Given the description of an element on the screen output the (x, y) to click on. 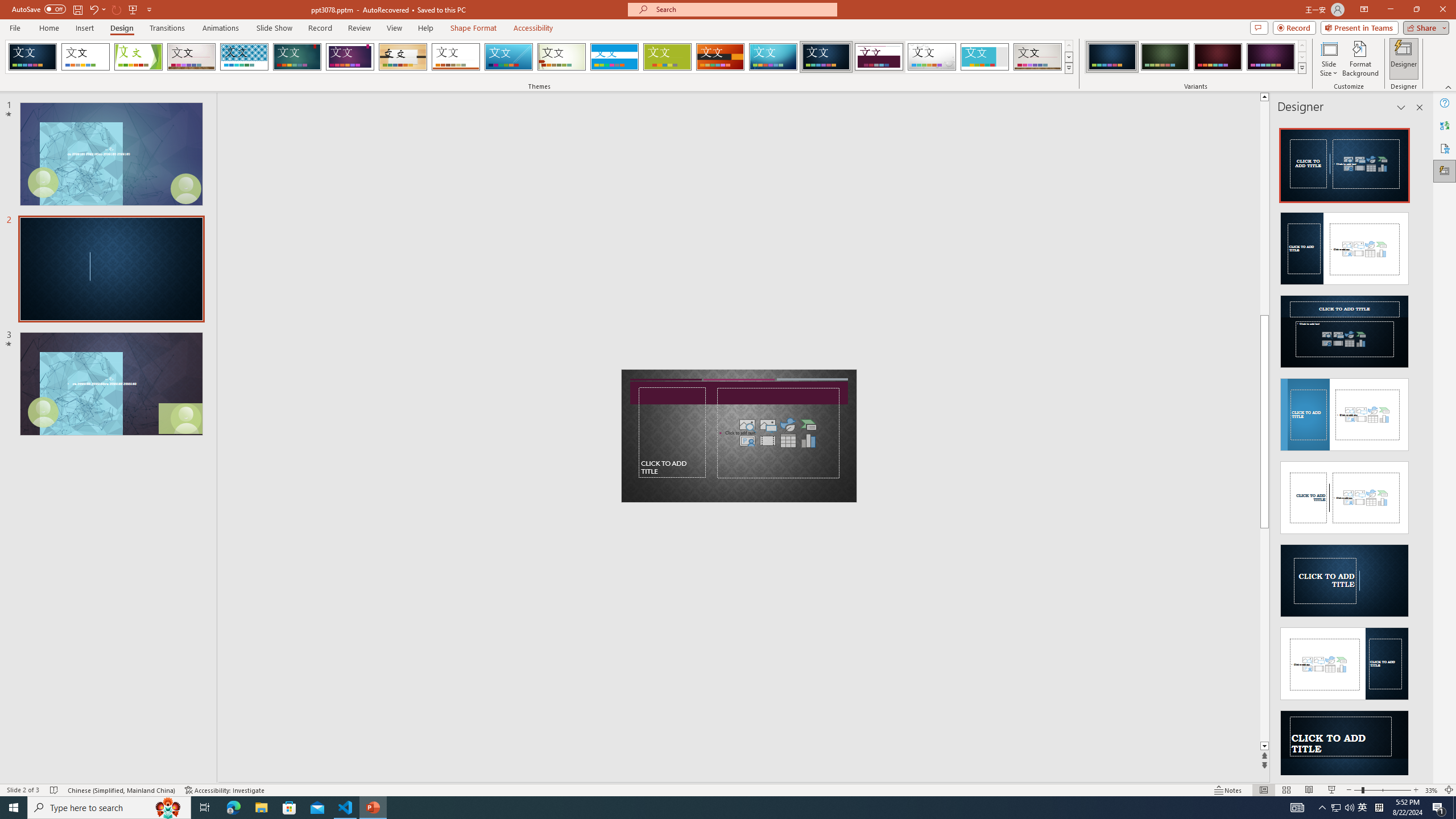
Collapse the Ribbon (1448, 86)
Organic (403, 56)
Spell Check No Errors (54, 790)
Class: NetUIImage (1302, 68)
Retrospect (455, 56)
Present in Teams (1359, 27)
Berlin (720, 56)
Class: MsoCommandBar (728, 789)
Slide (111, 383)
Stock Images (747, 424)
Dividend (869, 98)
Damask Variant 2 (1164, 56)
